Given the description of an element on the screen output the (x, y) to click on. 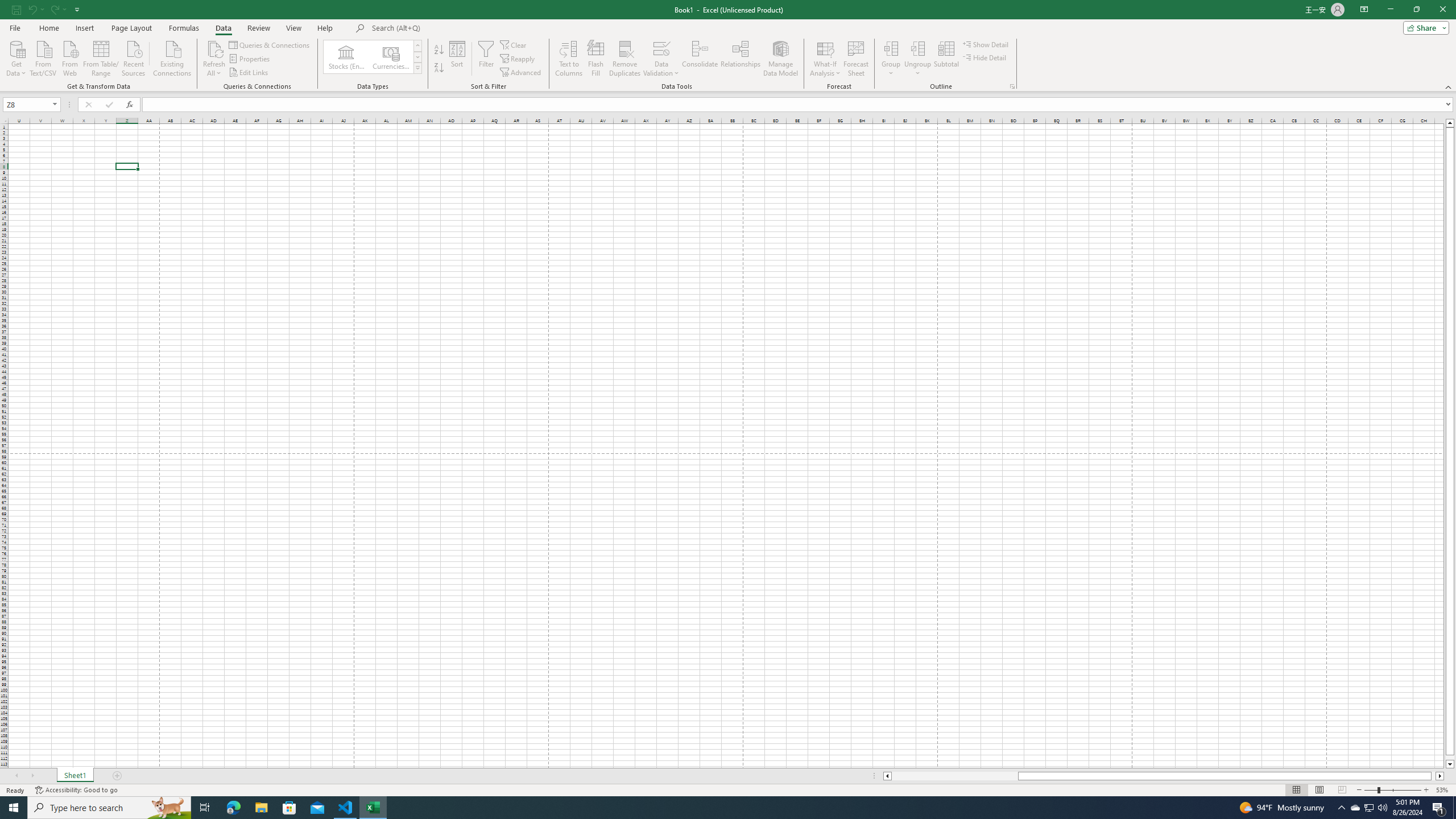
Properties (250, 58)
Recent Sources (133, 57)
Data Types (417, 67)
Flash Fill (595, 58)
